Given the description of an element on the screen output the (x, y) to click on. 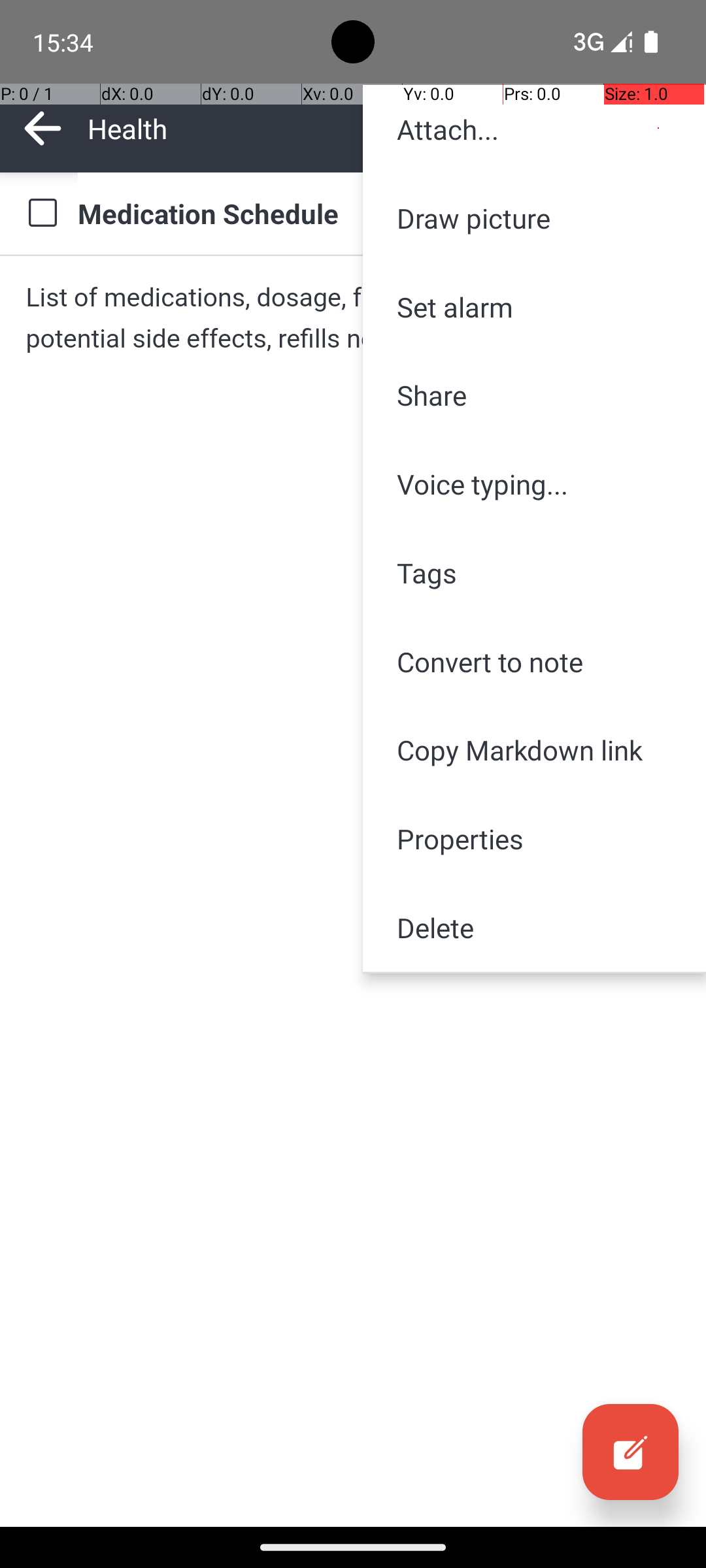
Medication Schedule Element type: android.widget.EditText (378, 213)
Edit, collapsed Element type: android.widget.Button (630, 1452)
 Element type: android.widget.TextView (42, 127)
Health Element type: android.widget.TextView (326, 128)
▼ Element type: android.widget.TextView (580, 128)
Actions Element type: android.view.ViewGroup (658, 127)
 Element type: android.widget.TextView (42, 212)
 Element type: android.widget.TextView (630, 1451)
 Element type: android.widget.TextView (658, 127)
Attach... Element type: android.widget.TextView (534, 129)
Draw picture Element type: android.widget.TextView (534, 217)
Set alarm Element type: android.widget.TextView (534, 306)
Voice typing... Element type: android.widget.TextView (534, 484)
Tags Element type: android.widget.TextView (534, 572)
Convert to note Element type: android.widget.TextView (534, 661)
Copy Markdown link Element type: android.widget.TextView (534, 749)
Properties Element type: android.widget.TextView (534, 838)
List of medications, dosage, frequency, time to take, potential side effects, refills needed. Element type: android.widget.TextView (352, 317)
